Given the description of an element on the screen output the (x, y) to click on. 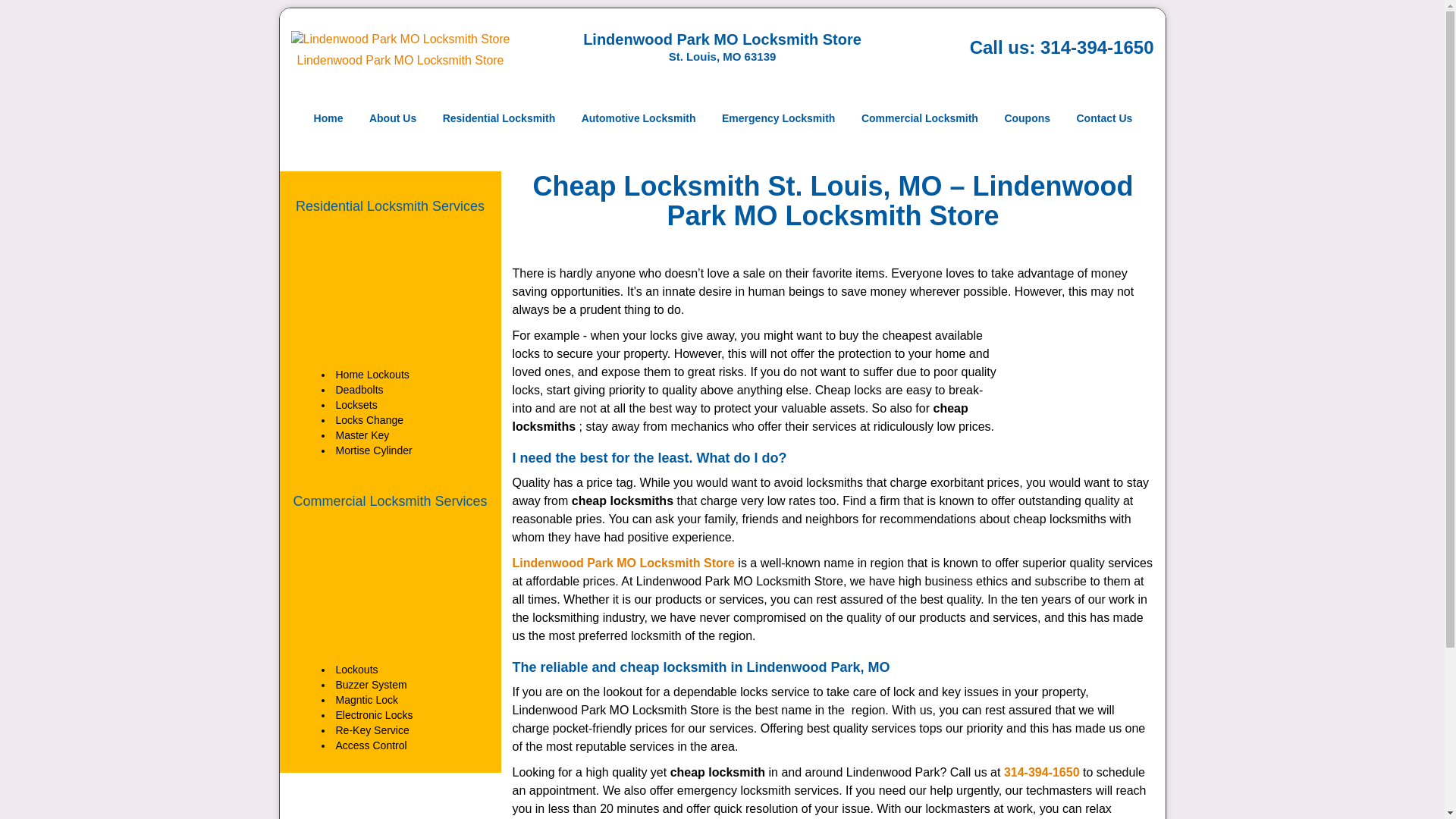
Automotive Locksmith (638, 117)
About Us (393, 117)
Residential Locksmith (498, 117)
Emergency Locksmith (777, 117)
Lindenwood Park MO Locksmith Store (623, 562)
Residential Locksmith Services (389, 206)
Contact Us (1103, 117)
314-394-1650 (1097, 46)
Coupons (1026, 117)
Commercial Locksmith (920, 117)
